Given the description of an element on the screen output the (x, y) to click on. 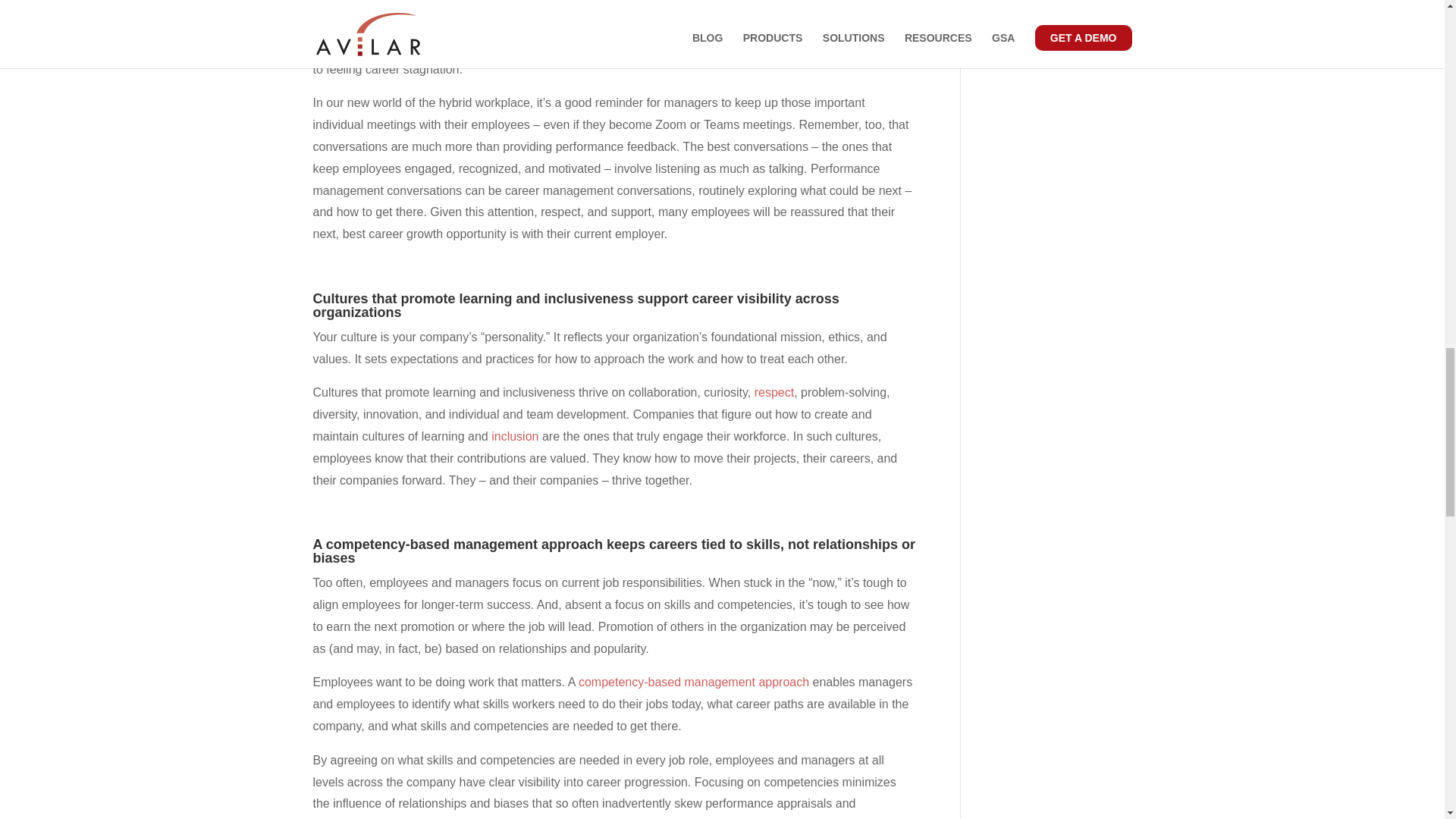
competency-based management approach (693, 681)
respect (773, 391)
Career Progression Survey (422, 24)
inclusion (515, 436)
